Given the description of an element on the screen output the (x, y) to click on. 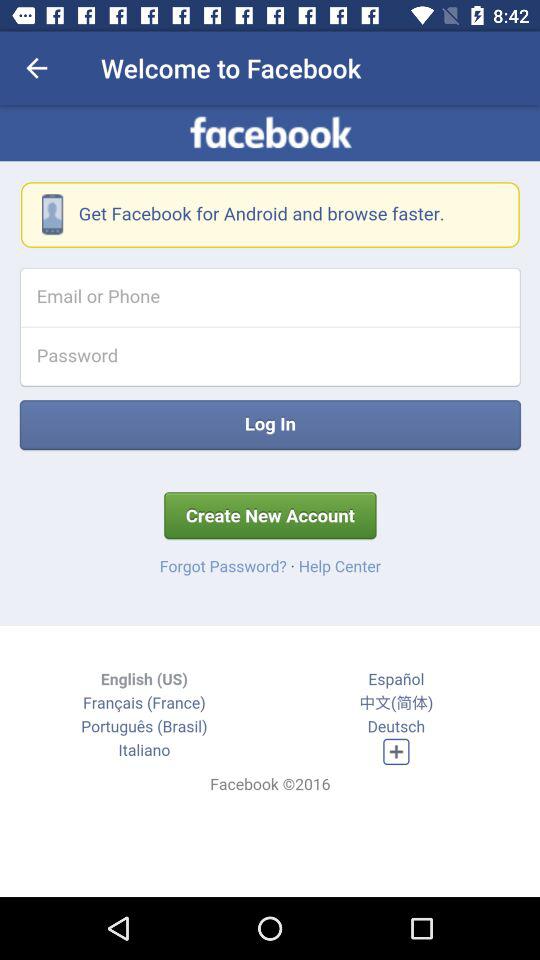
login (270, 501)
